Given the description of an element on the screen output the (x, y) to click on. 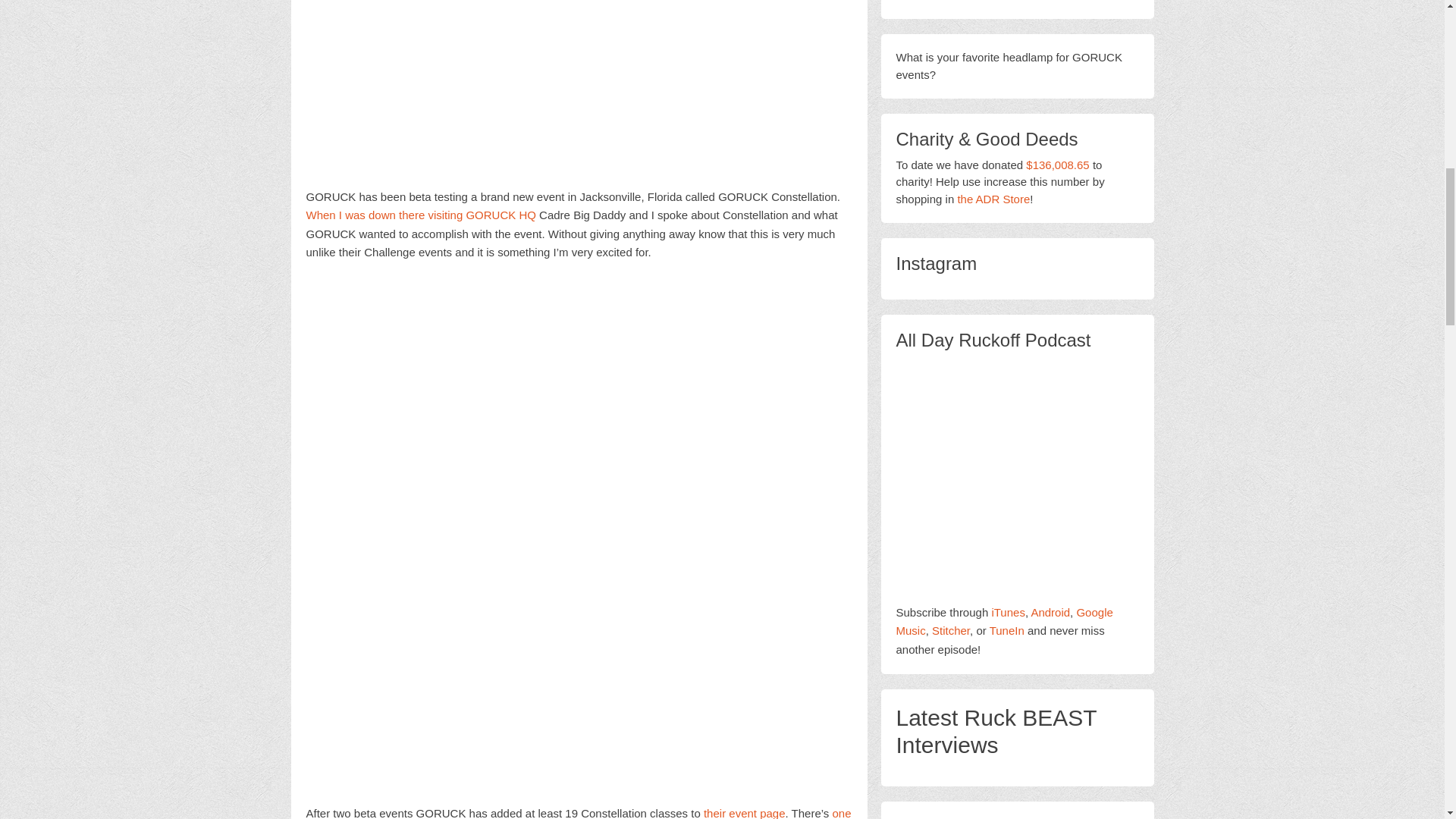
GORUCK Constellation Patch (578, 531)
